Given the description of an element on the screen output the (x, y) to click on. 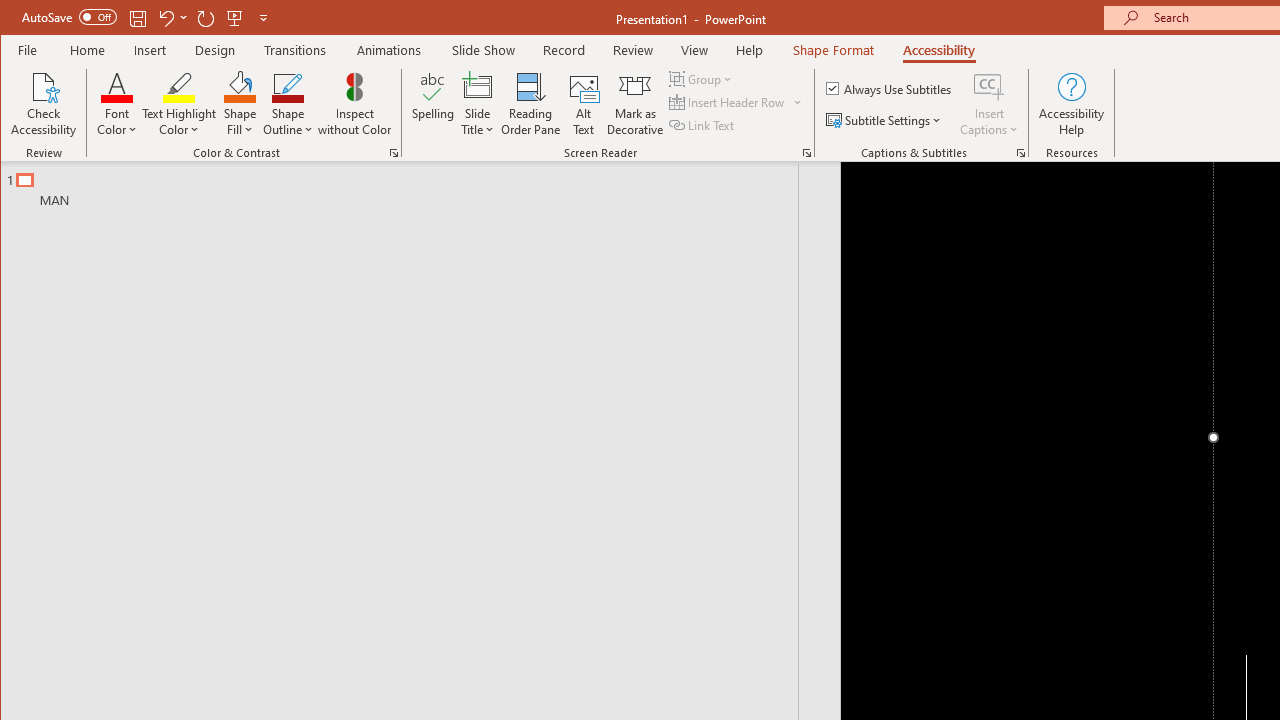
Mark as Decorative (635, 104)
Check Accessibility (43, 104)
Accessibility Help (1071, 104)
Slide Title (477, 104)
Outline (408, 185)
Alt Text (584, 104)
Color & Contrast (393, 152)
Insert Header Row (735, 101)
Inspect without Color (355, 104)
Insert Captions (989, 104)
